Given the description of an element on the screen output the (x, y) to click on. 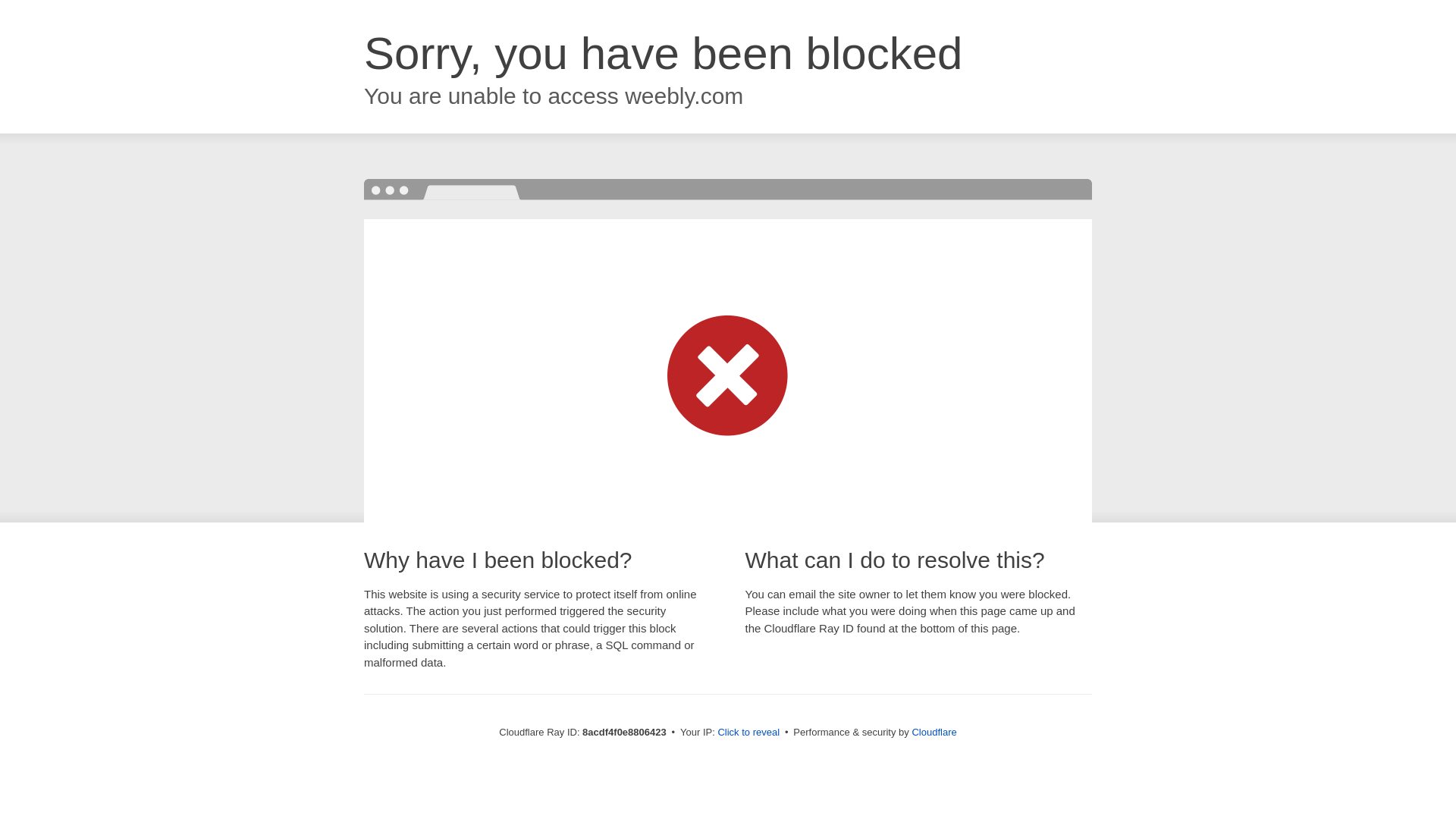
Cloudflare (933, 731)
Click to reveal (747, 732)
